Given the description of an element on the screen output the (x, y) to click on. 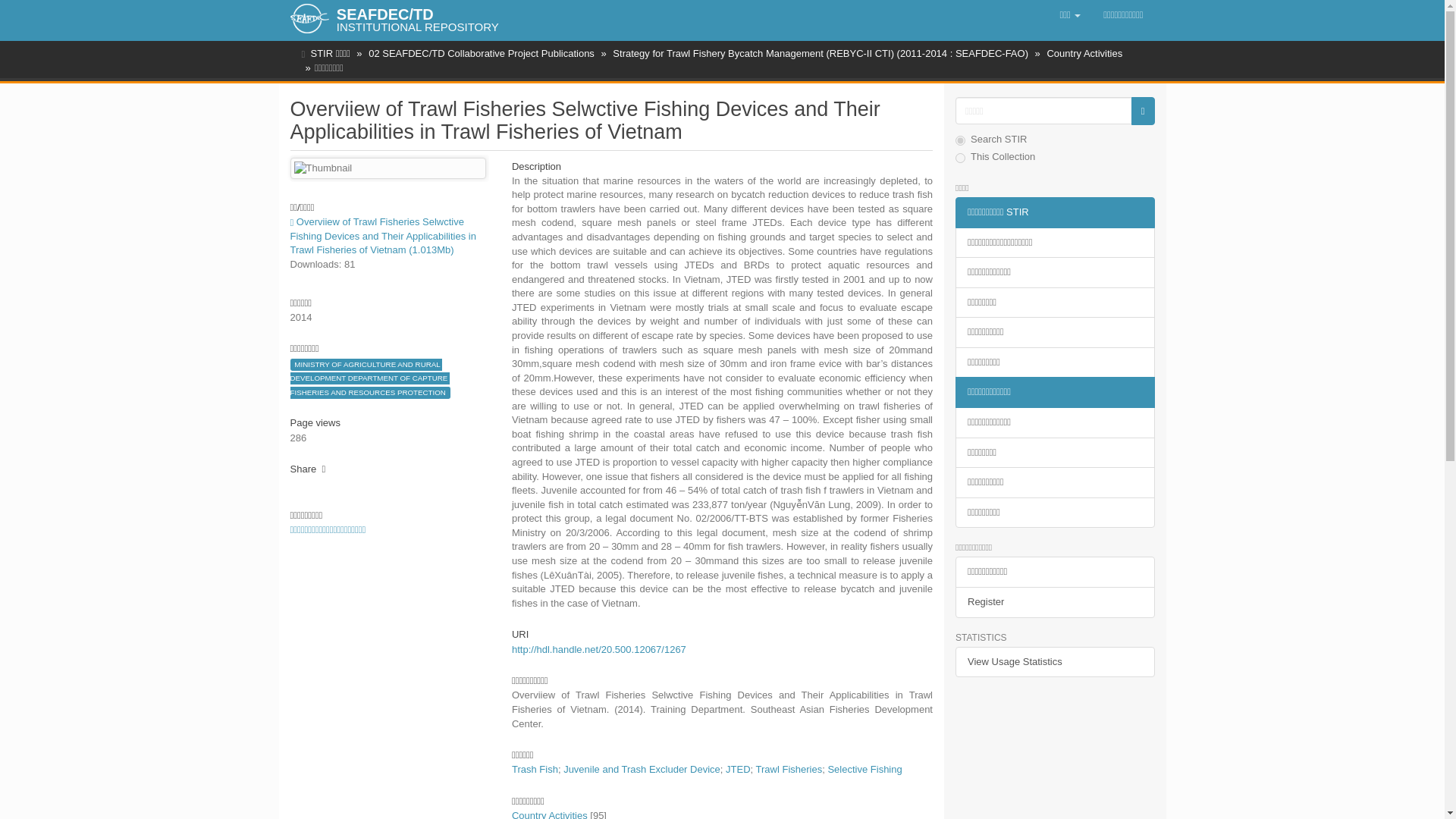
Country Activities (1084, 52)
Selective Fishing (864, 768)
Trawl Fisheries (788, 768)
Country Activities (550, 814)
JTED (738, 768)
Juvenile and Trash Excluder Device (641, 768)
Trash Fish (534, 768)
